Given the description of an element on the screen output the (x, y) to click on. 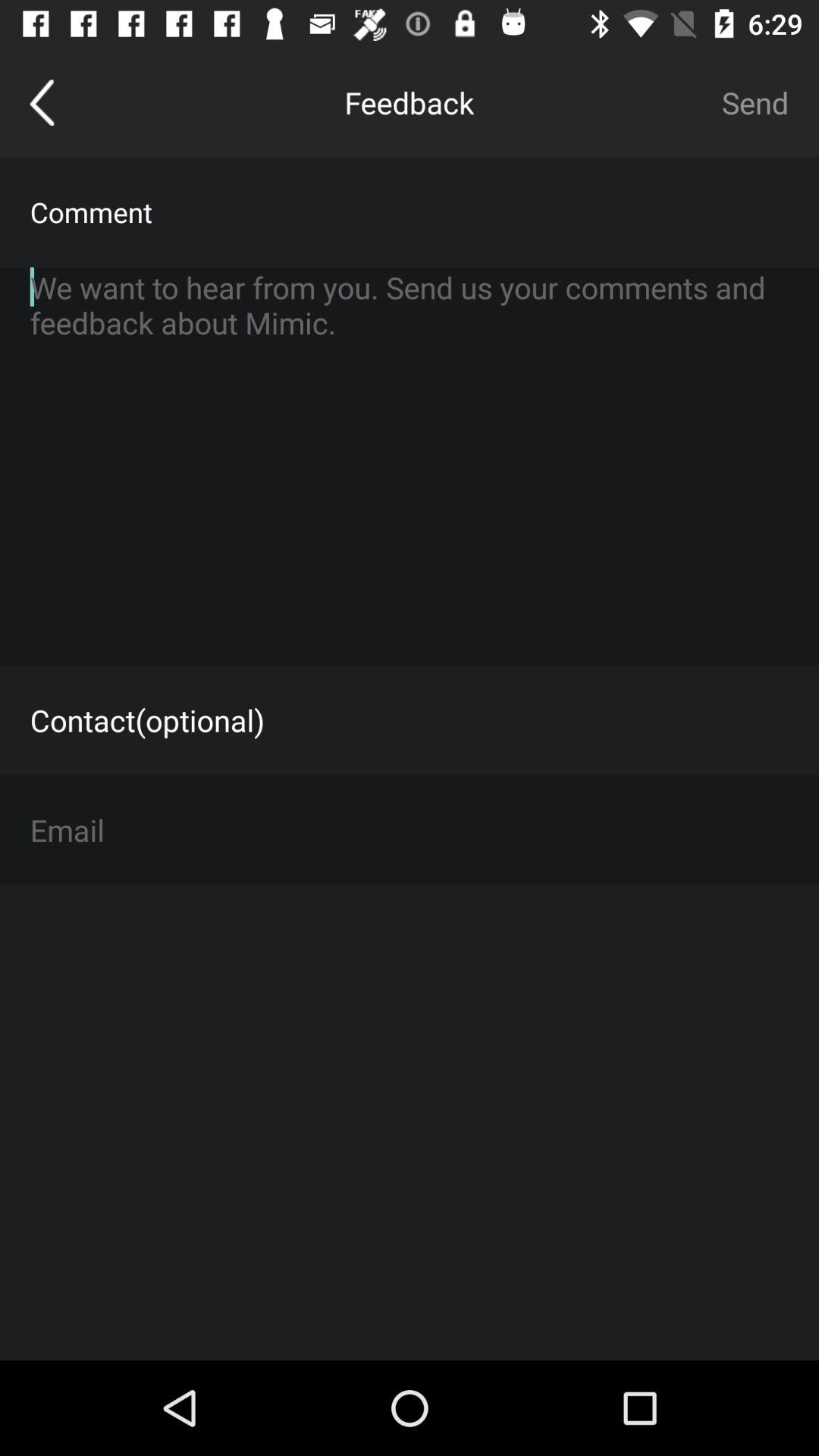
turn on icon to the left of feedback (42, 102)
